Given the description of an element on the screen output the (x, y) to click on. 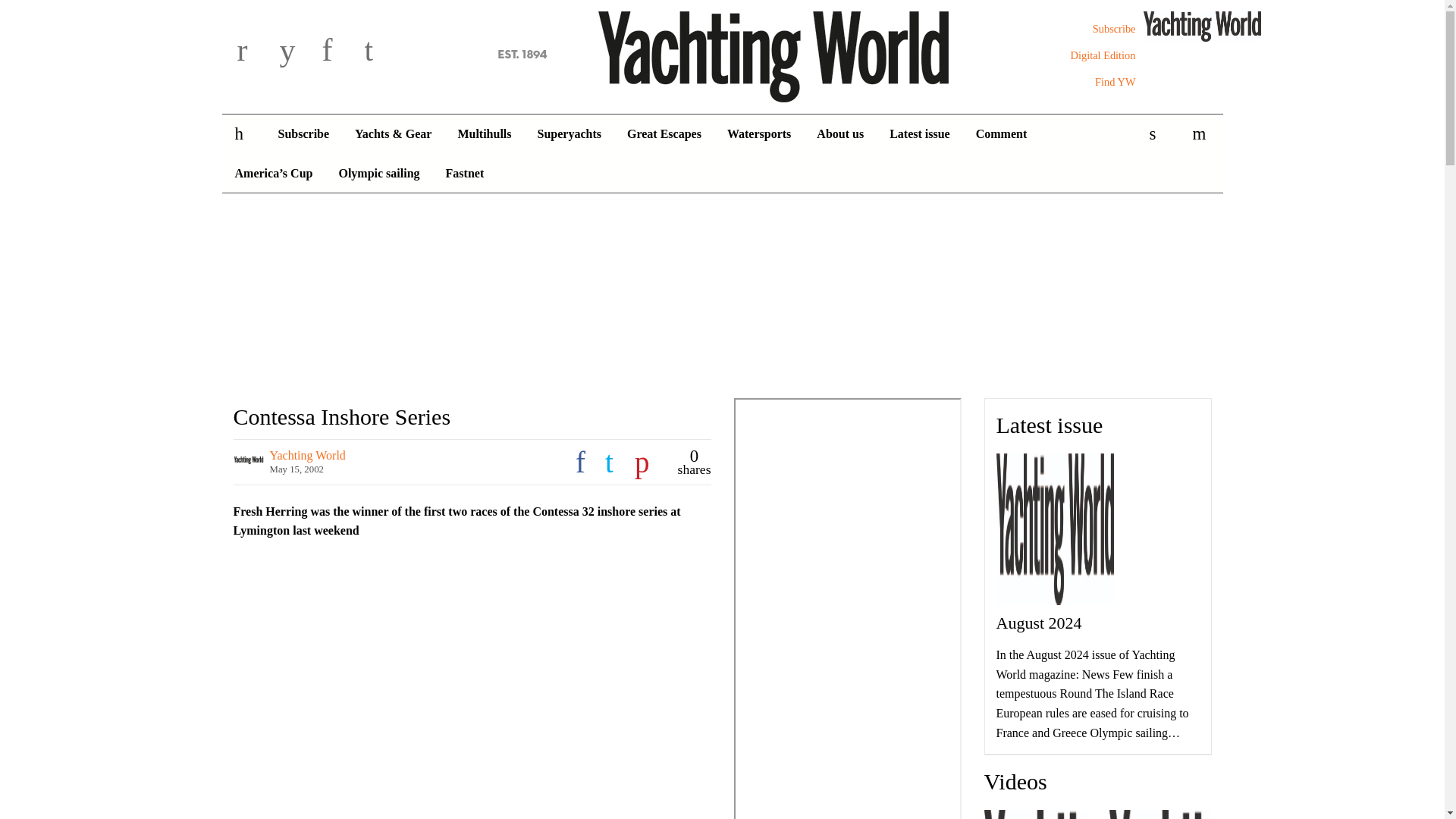
Find YW (1114, 81)
r (254, 52)
Subscribe (303, 133)
Great Escapes (664, 133)
Digital Edition (1102, 55)
Subscribe (1114, 28)
Find YW (1114, 81)
Yachting World (721, 53)
Subscribe (1114, 28)
Digital Edition (1102, 55)
